Given the description of an element on the screen output the (x, y) to click on. 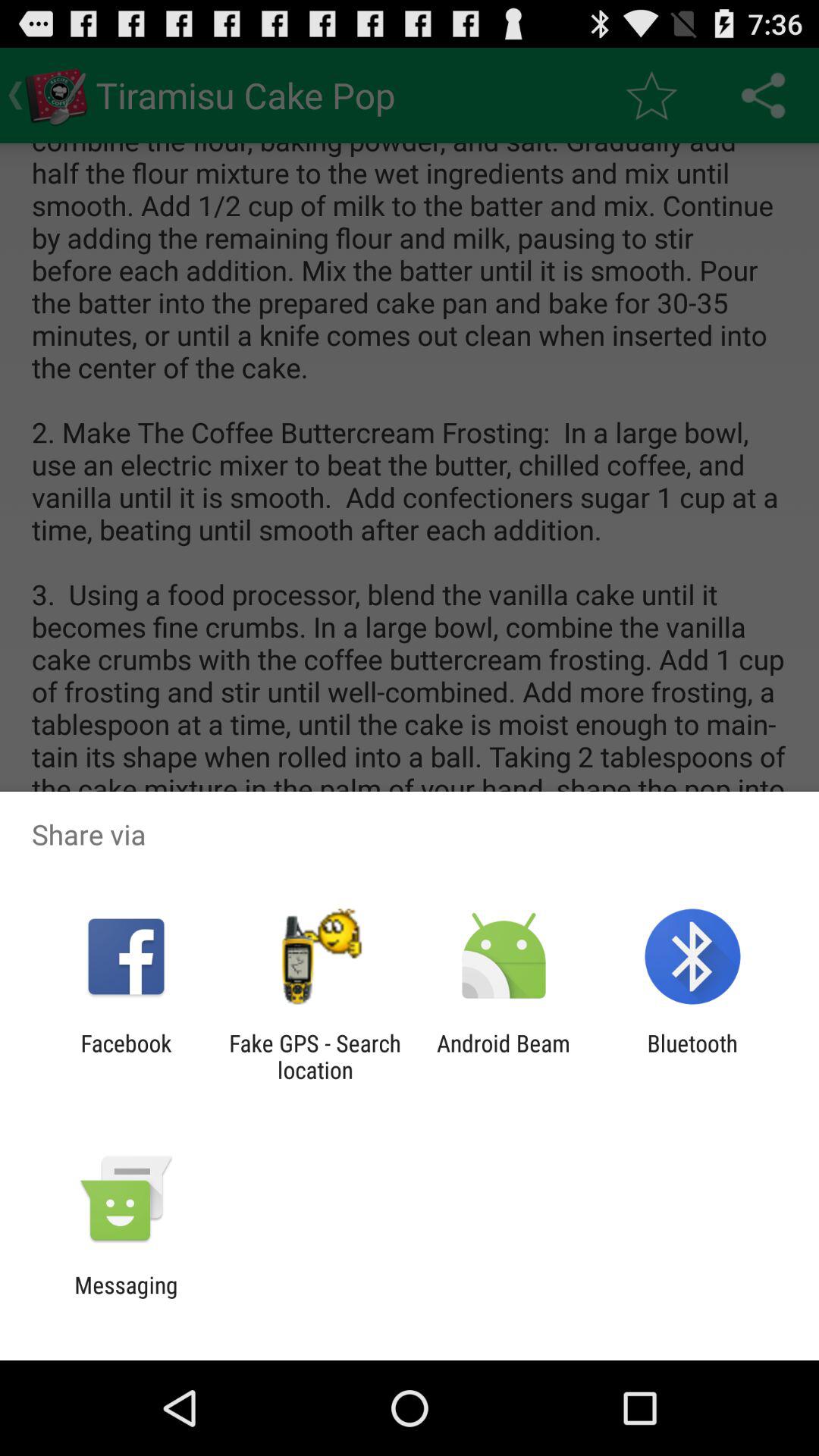
turn off item next to the facebook app (314, 1056)
